Given the description of an element on the screen output the (x, y) to click on. 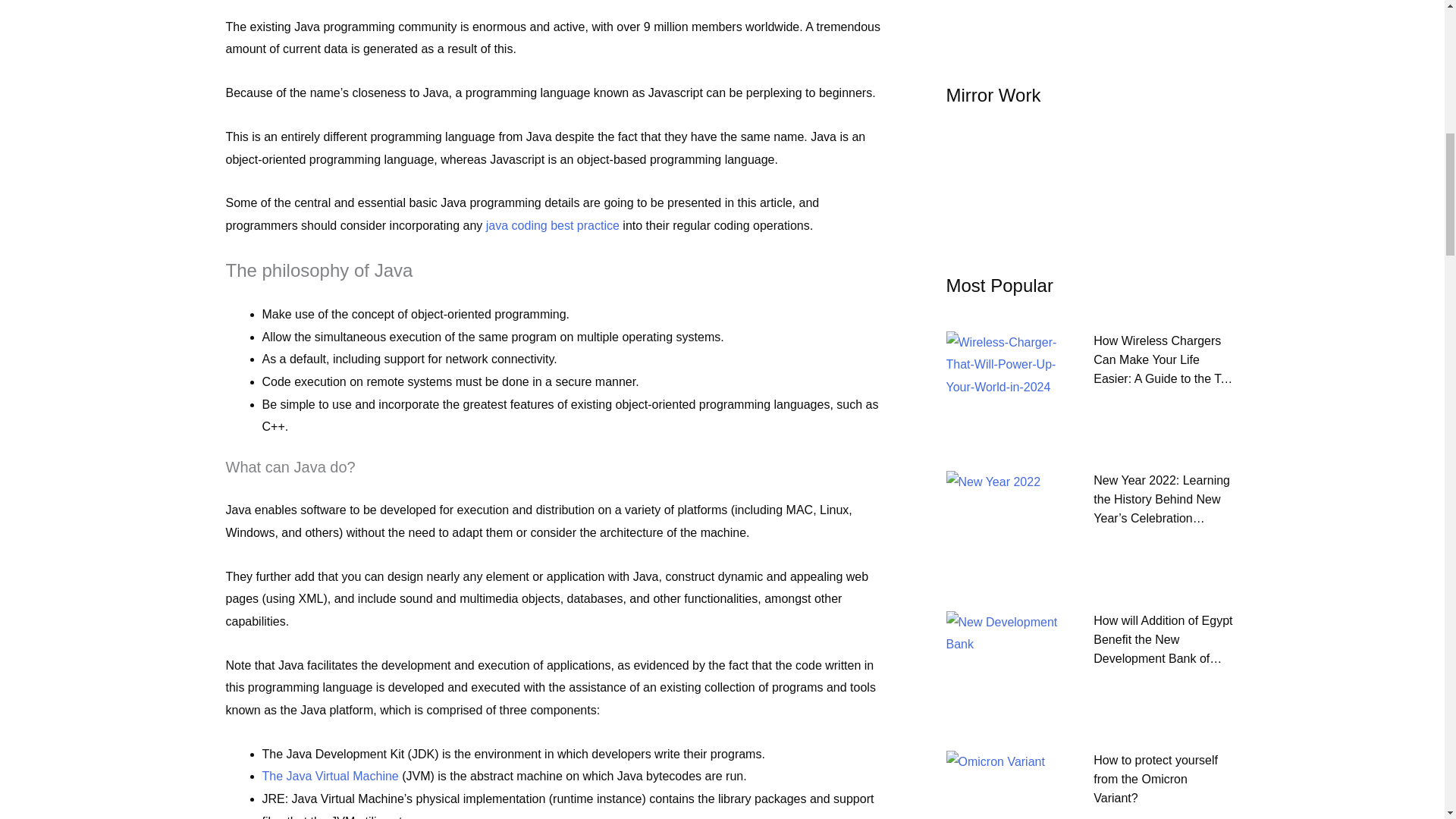
The Java Virtual Machine (330, 775)
java coding best practice (553, 225)
